Given the description of an element on the screen output the (x, y) to click on. 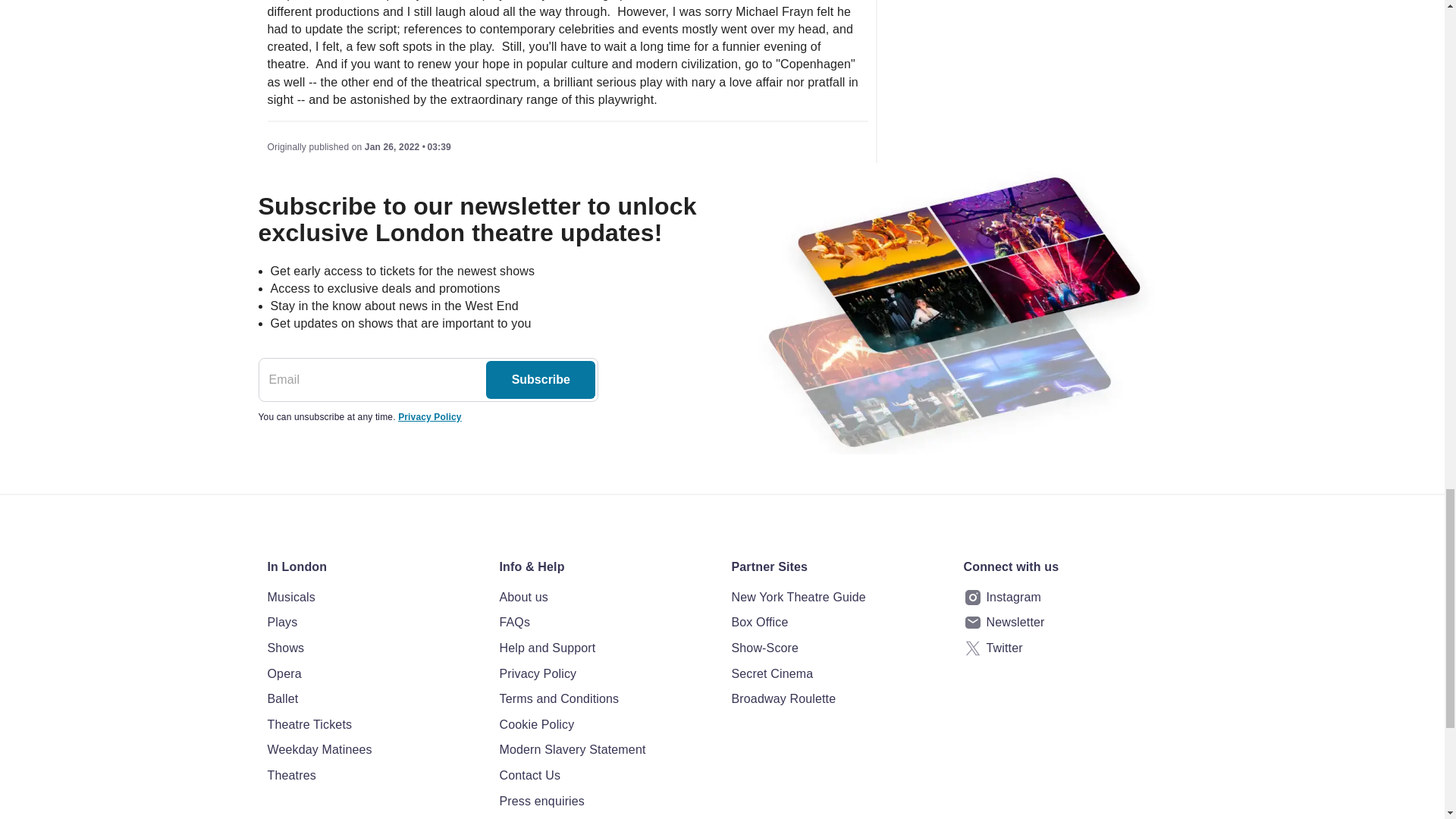
Ballet (373, 699)
Cookie Policy (606, 724)
Modern Slavery Statement (606, 750)
About us (606, 597)
Opera (373, 673)
Theatre Tickets (373, 724)
Terms and Conditions (606, 699)
Help and Support (606, 648)
FAQs (606, 622)
Contact Us (606, 775)
Weekday Matinees (373, 750)
Press enquiries (606, 801)
Shows (373, 648)
Theatres (373, 775)
New York Theatre Guide (837, 597)
